Given the description of an element on the screen output the (x, y) to click on. 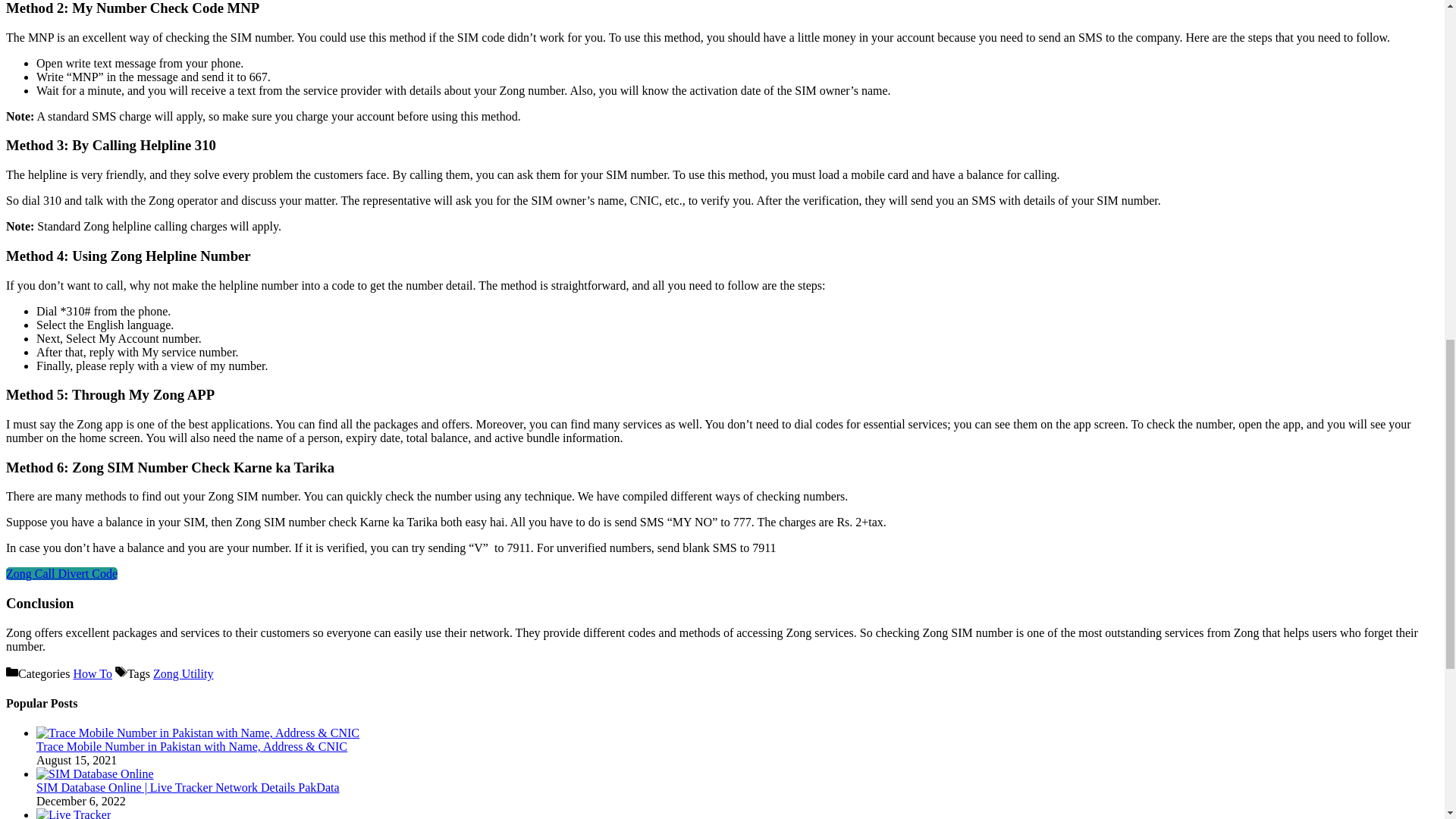
Zong Call Divert Code (61, 573)
Zong Utility (183, 673)
How To (92, 673)
